Given the description of an element on the screen output the (x, y) to click on. 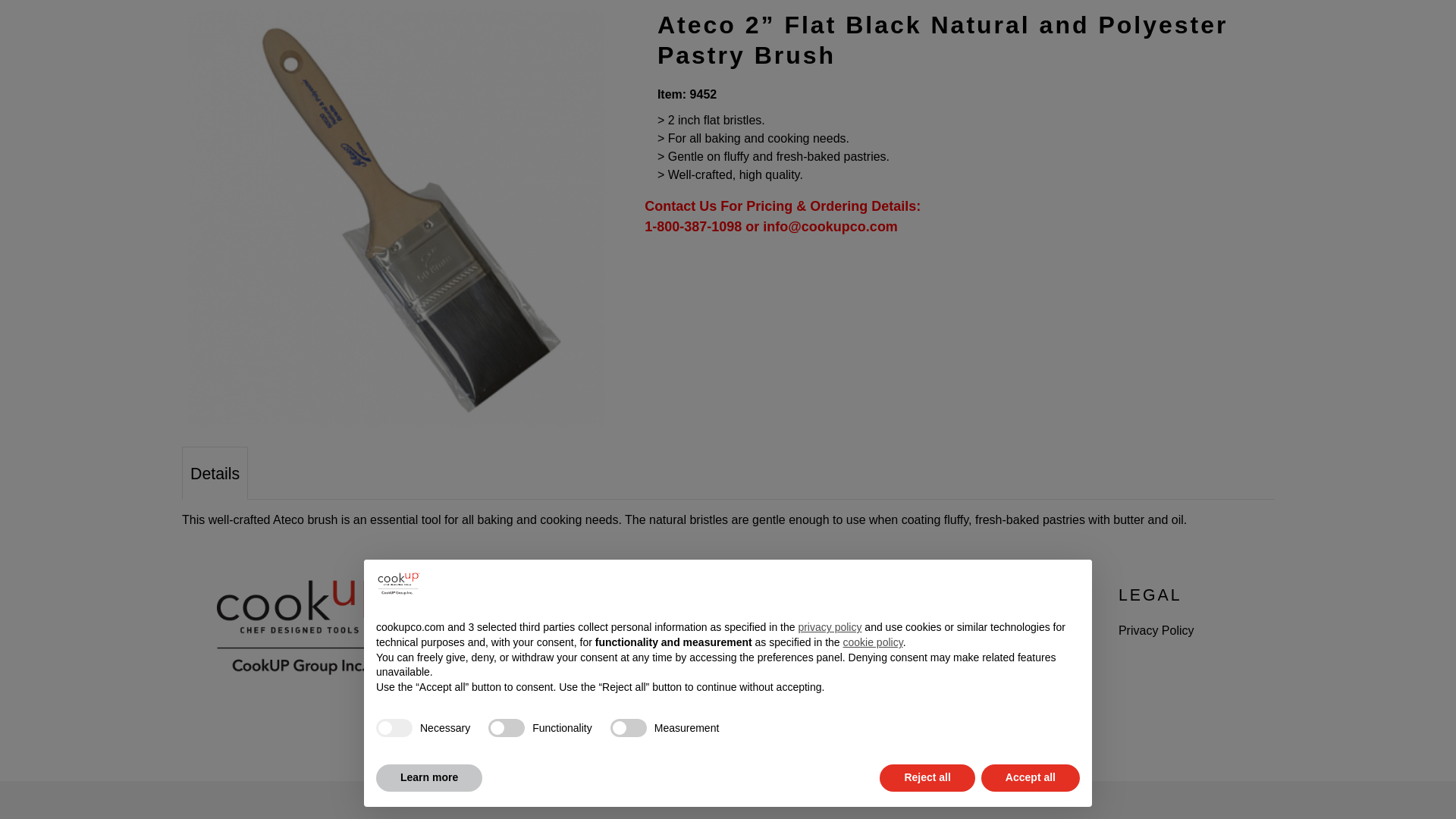
false (505, 542)
Privacy Policy  (1155, 630)
false (628, 542)
true (393, 542)
